Given the description of an element on the screen output the (x, y) to click on. 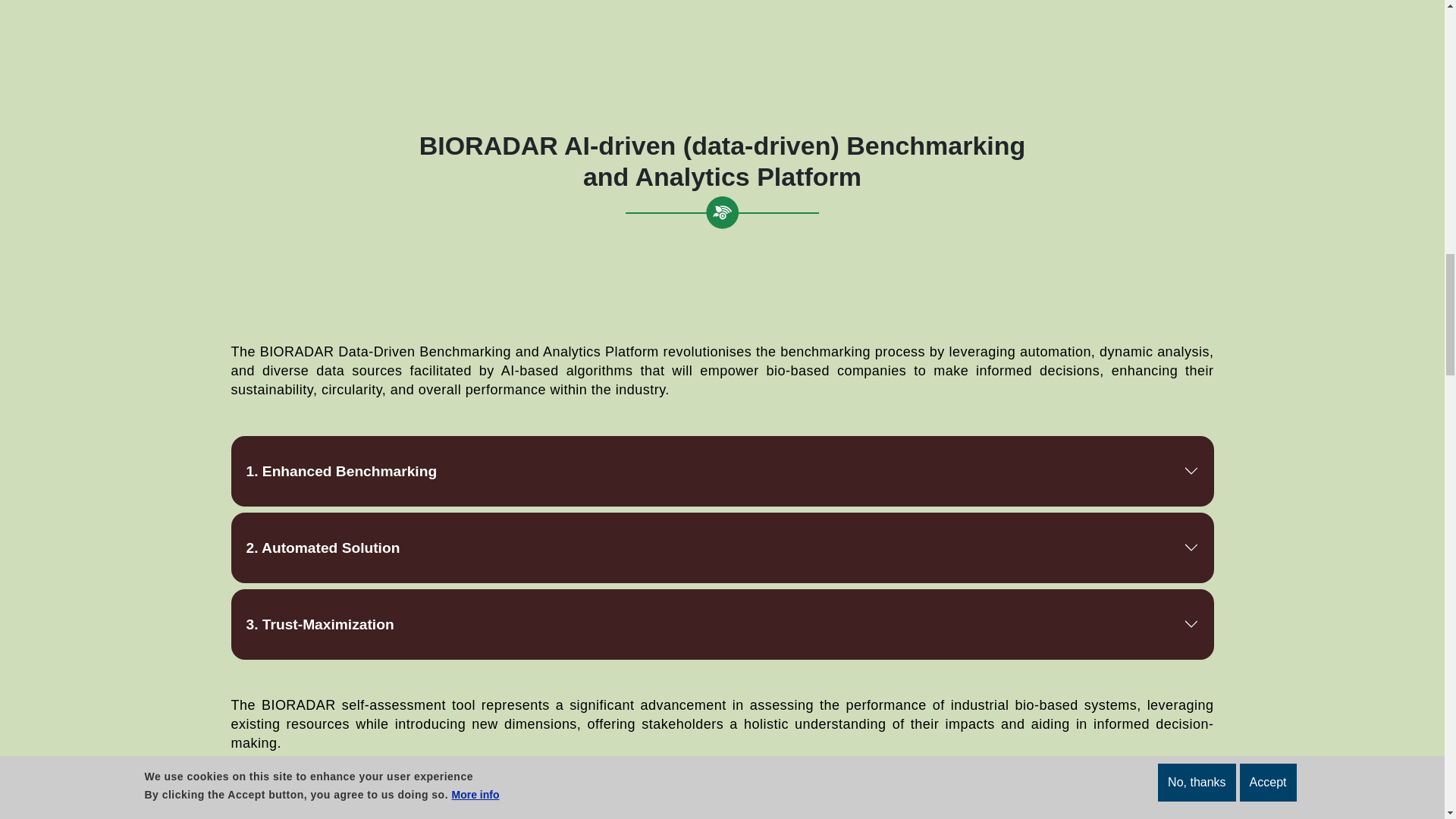
3. Trust-Maximization (721, 623)
2. Automated Solution (721, 547)
1. Enhanced Benchmarking (721, 470)
